Given the description of an element on the screen output the (x, y) to click on. 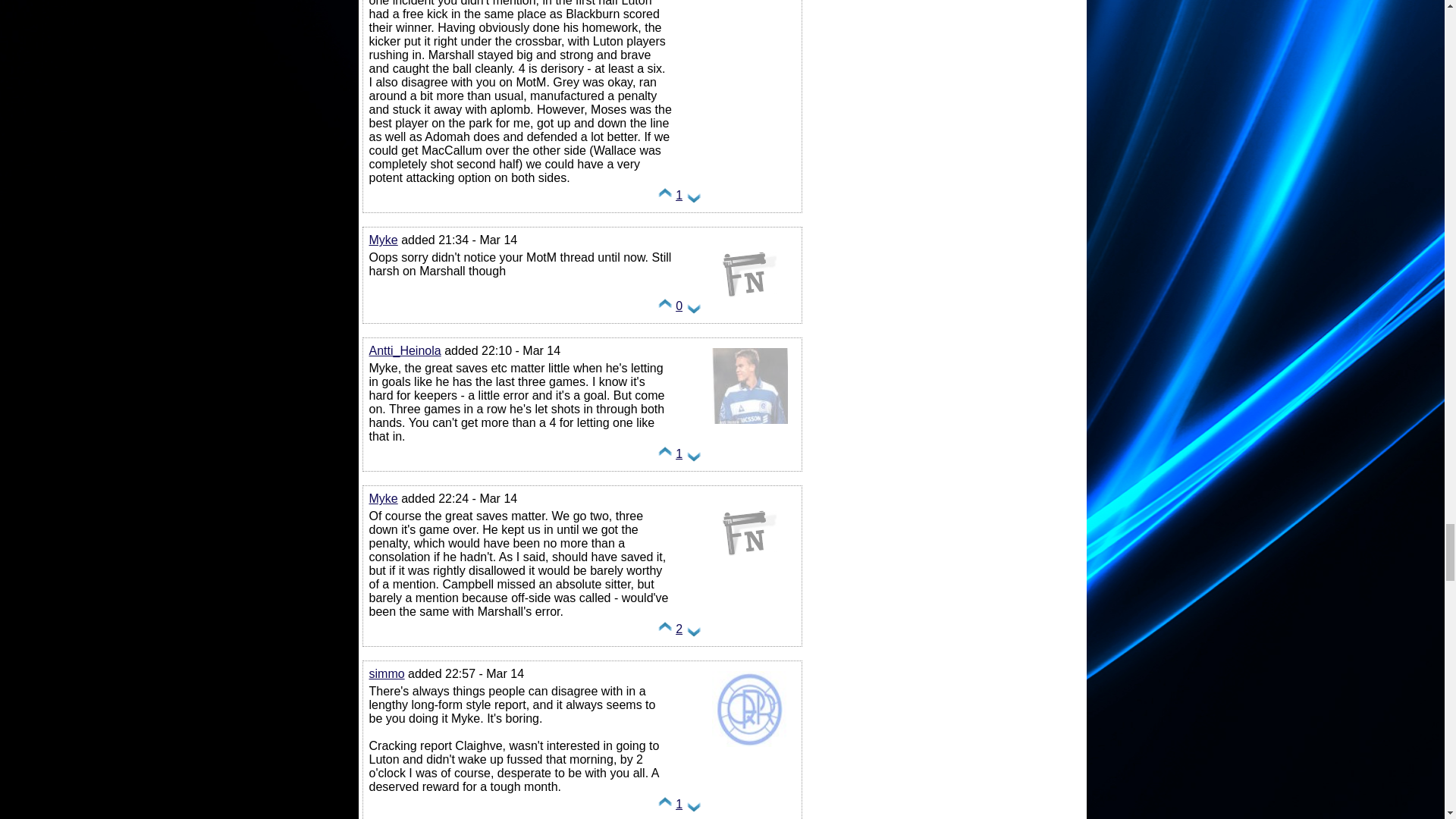
Click if you agree with this post (665, 198)
Myke is offline (749, 312)
Click if you agree with this post (665, 309)
Click if you disagree with this post (692, 198)
Click if you agree with this post (665, 457)
Click if you disagree with this post (692, 309)
